Given the description of an element on the screen output the (x, y) to click on. 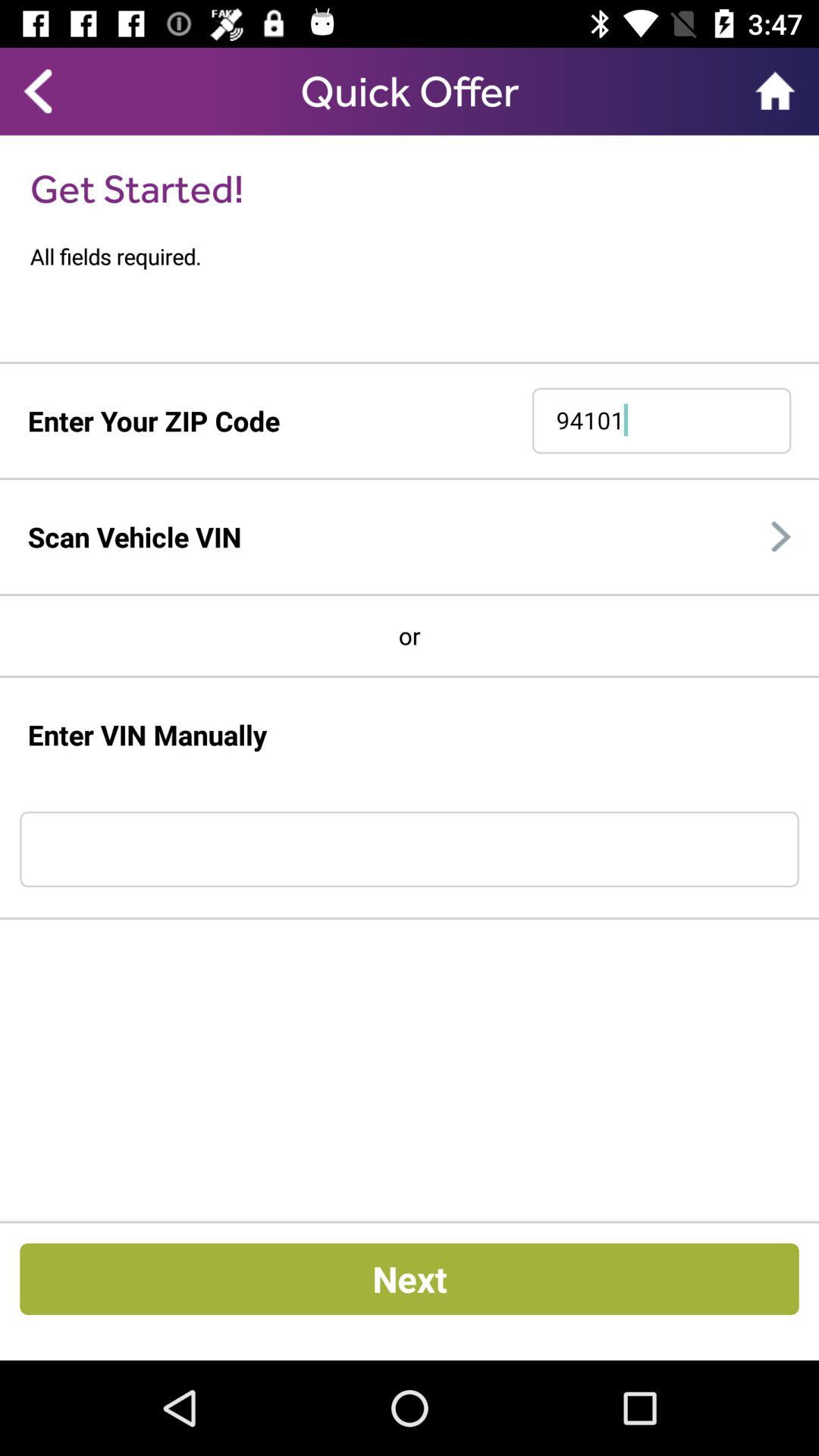
launch the icon to the left of 94101 icon (153, 420)
